Given the description of an element on the screen output the (x, y) to click on. 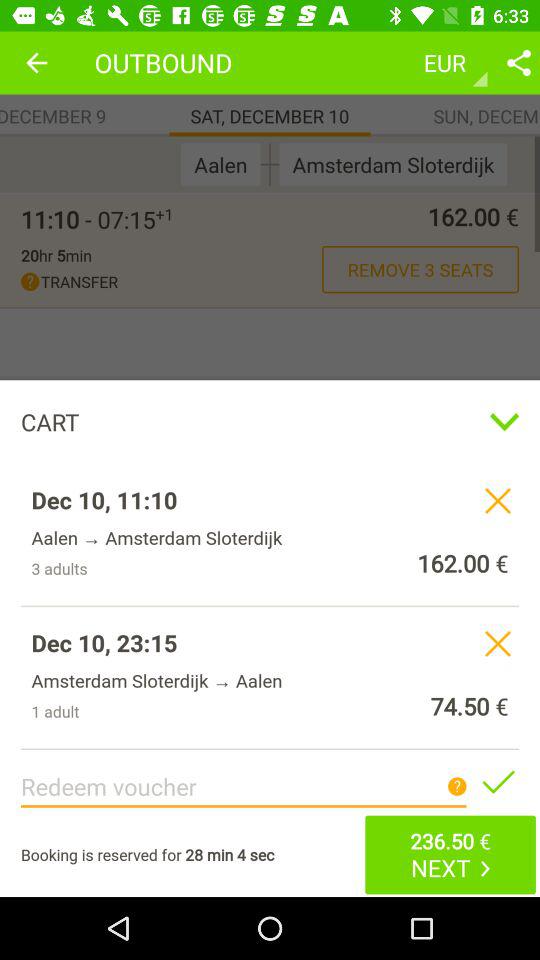
cancel (498, 643)
